Given the description of an element on the screen output the (x, y) to click on. 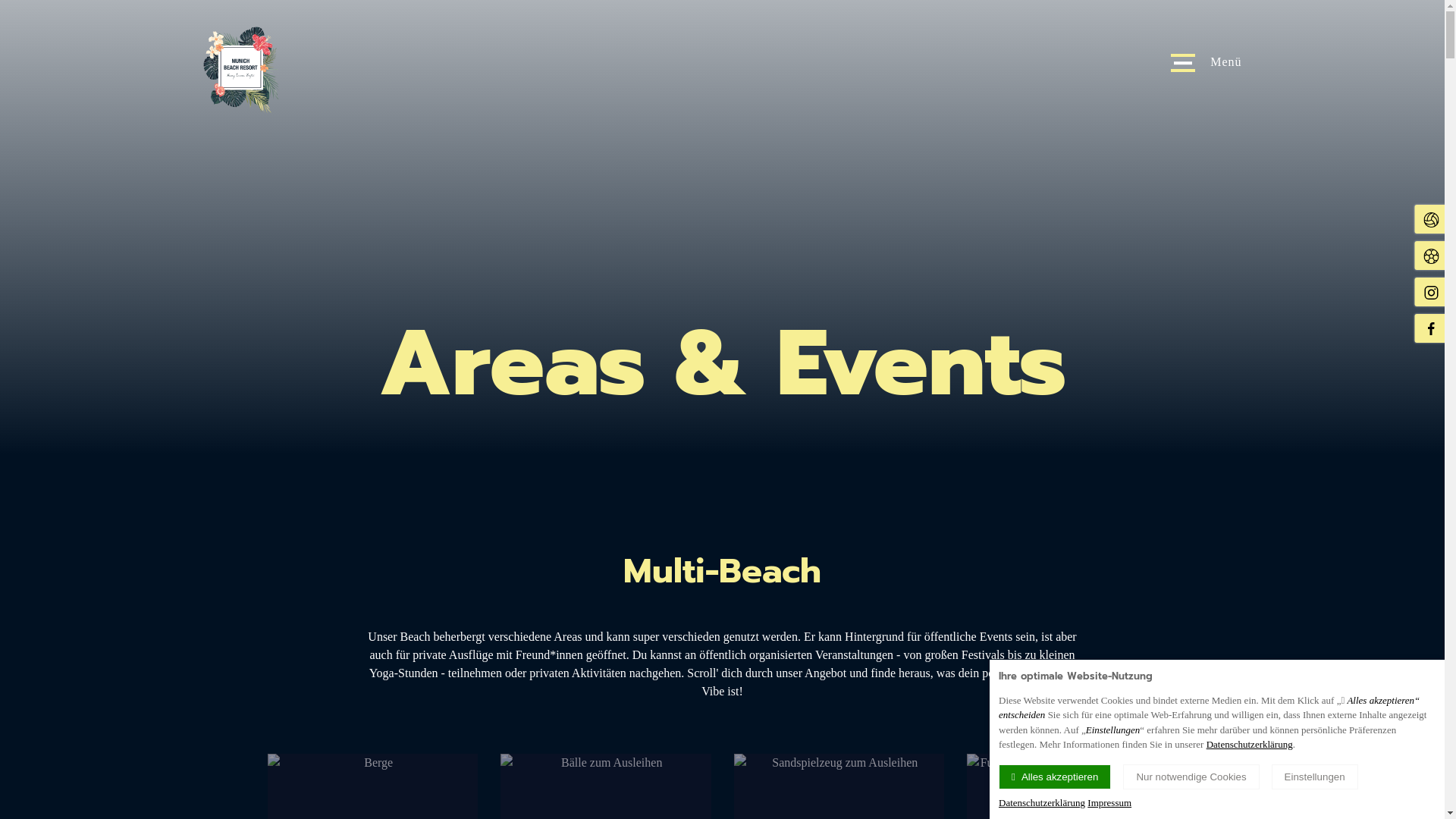
Einstellungen Element type: text (1314, 776)
Alles akzeptieren Element type: text (1054, 776)
Impressum Element type: text (1109, 801)
Nur notwendige Cookies Element type: text (1190, 776)
